Given the description of an element on the screen output the (x, y) to click on. 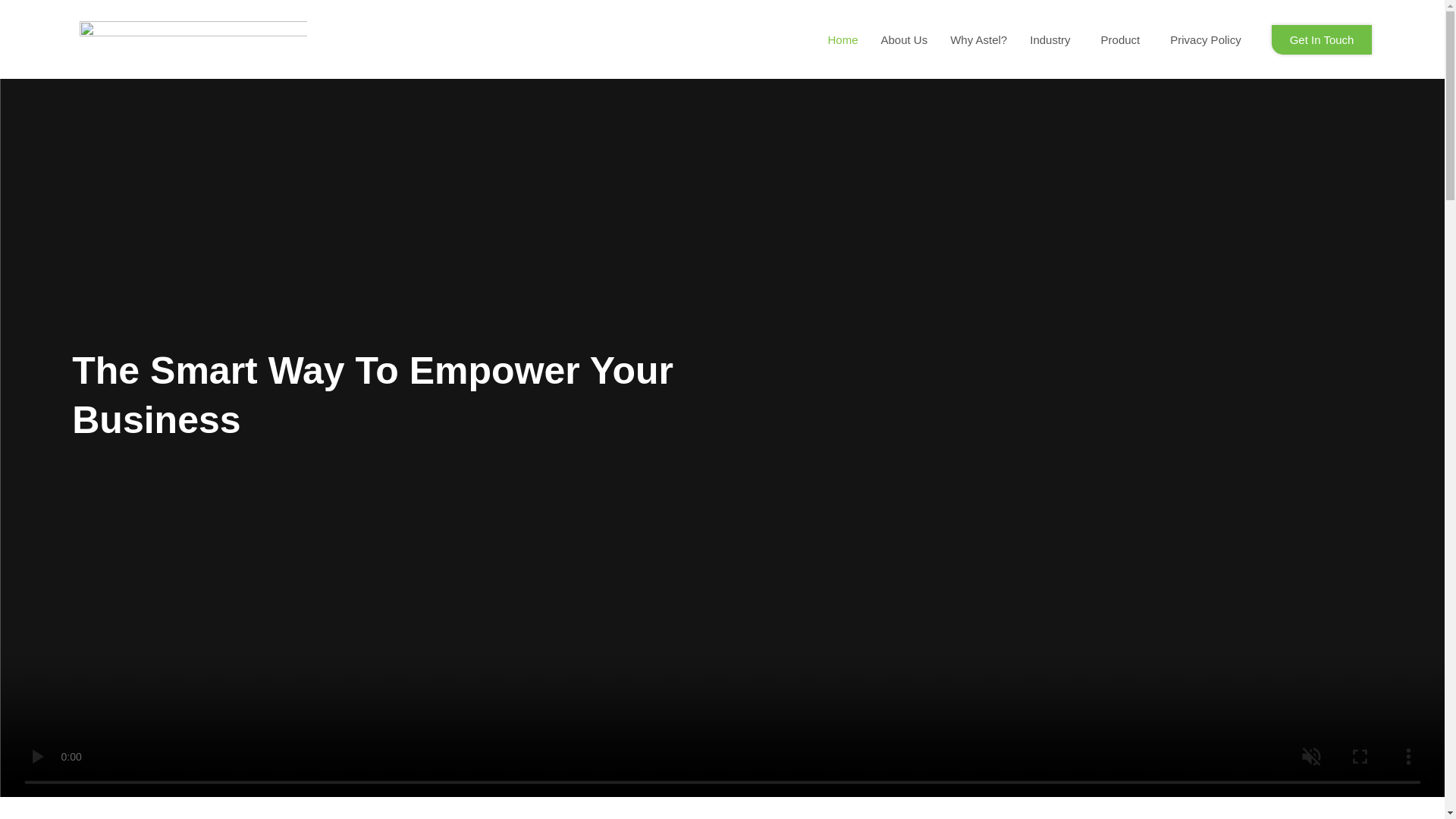
Privacy Policy (1205, 39)
Get In Touch (1322, 39)
About Us (904, 39)
Product (1123, 39)
Industry (1053, 39)
Home (842, 39)
Why Astel? (978, 39)
